Given the description of an element on the screen output the (x, y) to click on. 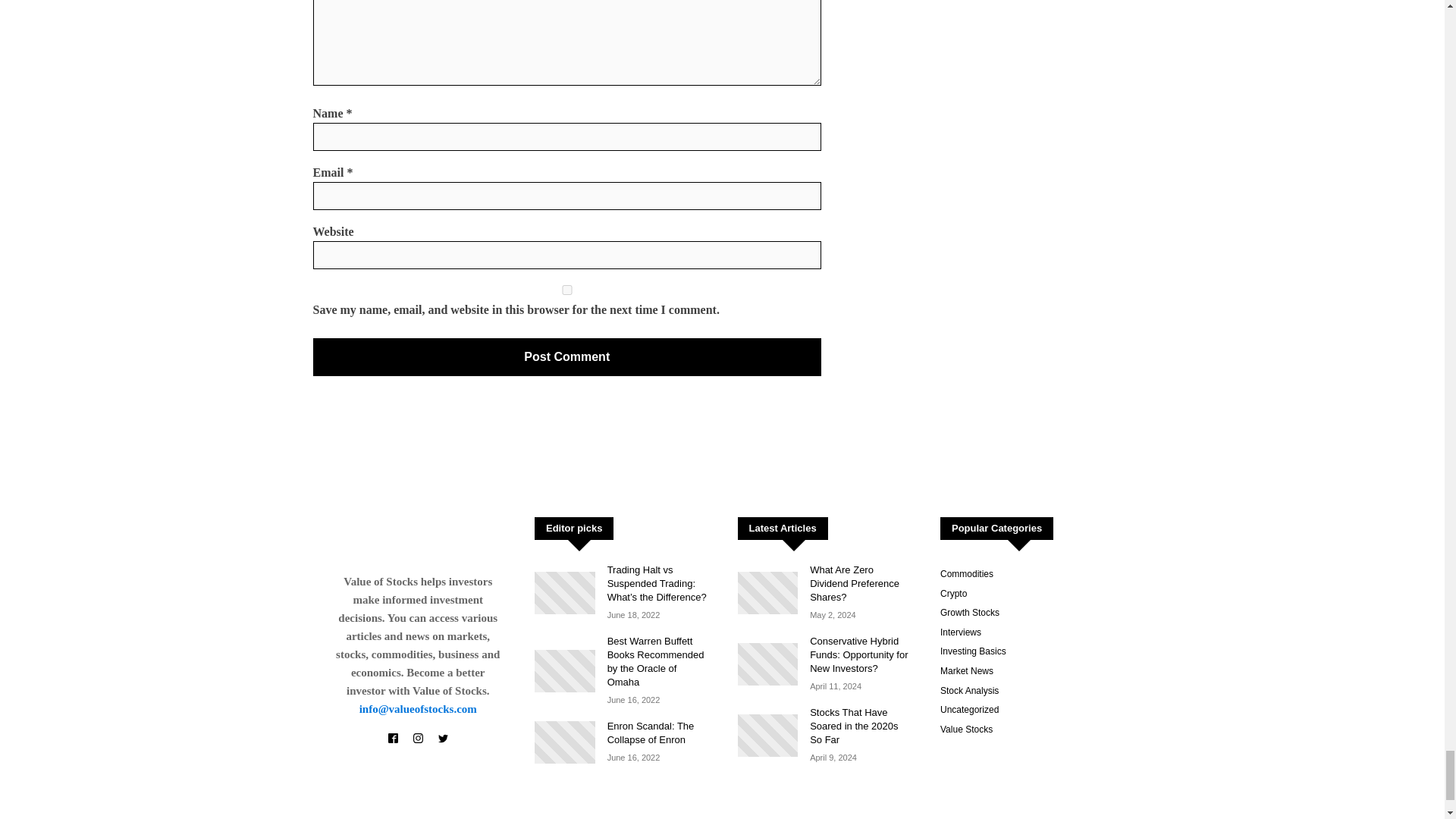
yes (567, 289)
Post Comment (567, 356)
